Given the description of an element on the screen output the (x, y) to click on. 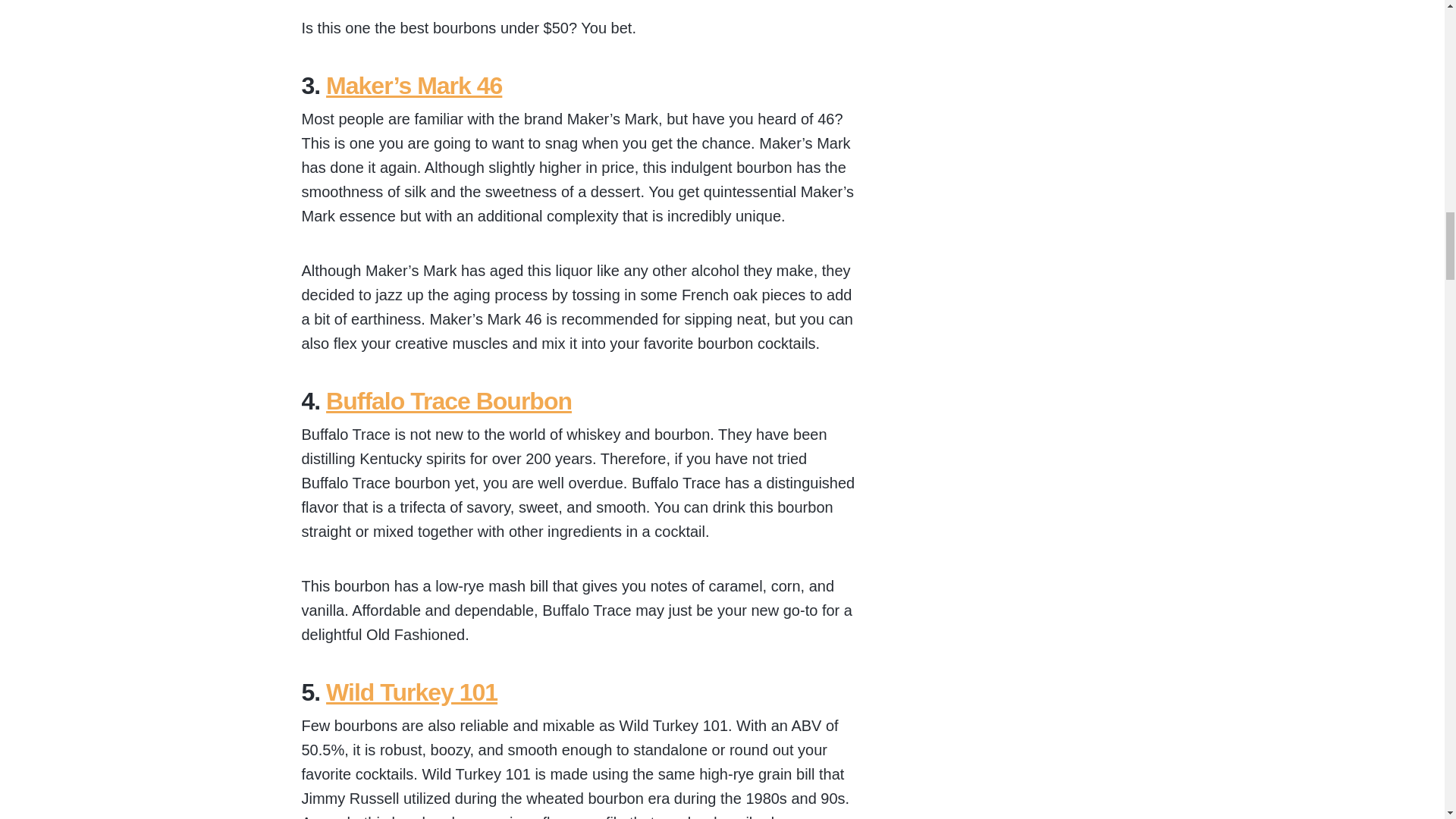
Buffalo Trace Bourbon (449, 400)
Wild Turkey 101 (411, 691)
